Given the description of an element on the screen output the (x, y) to click on. 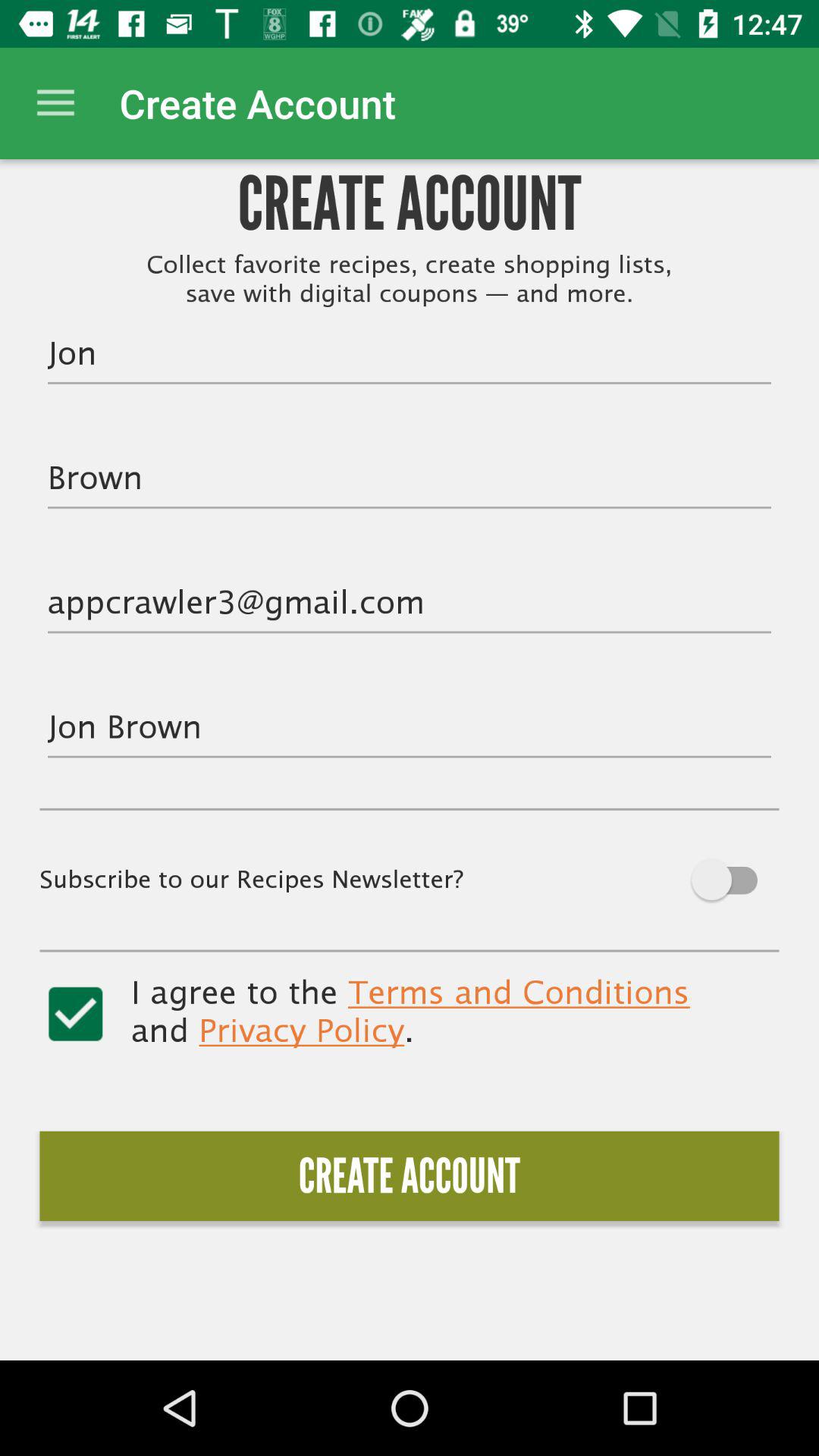
go to off option (699, 879)
